Given the description of an element on the screen output the (x, y) to click on. 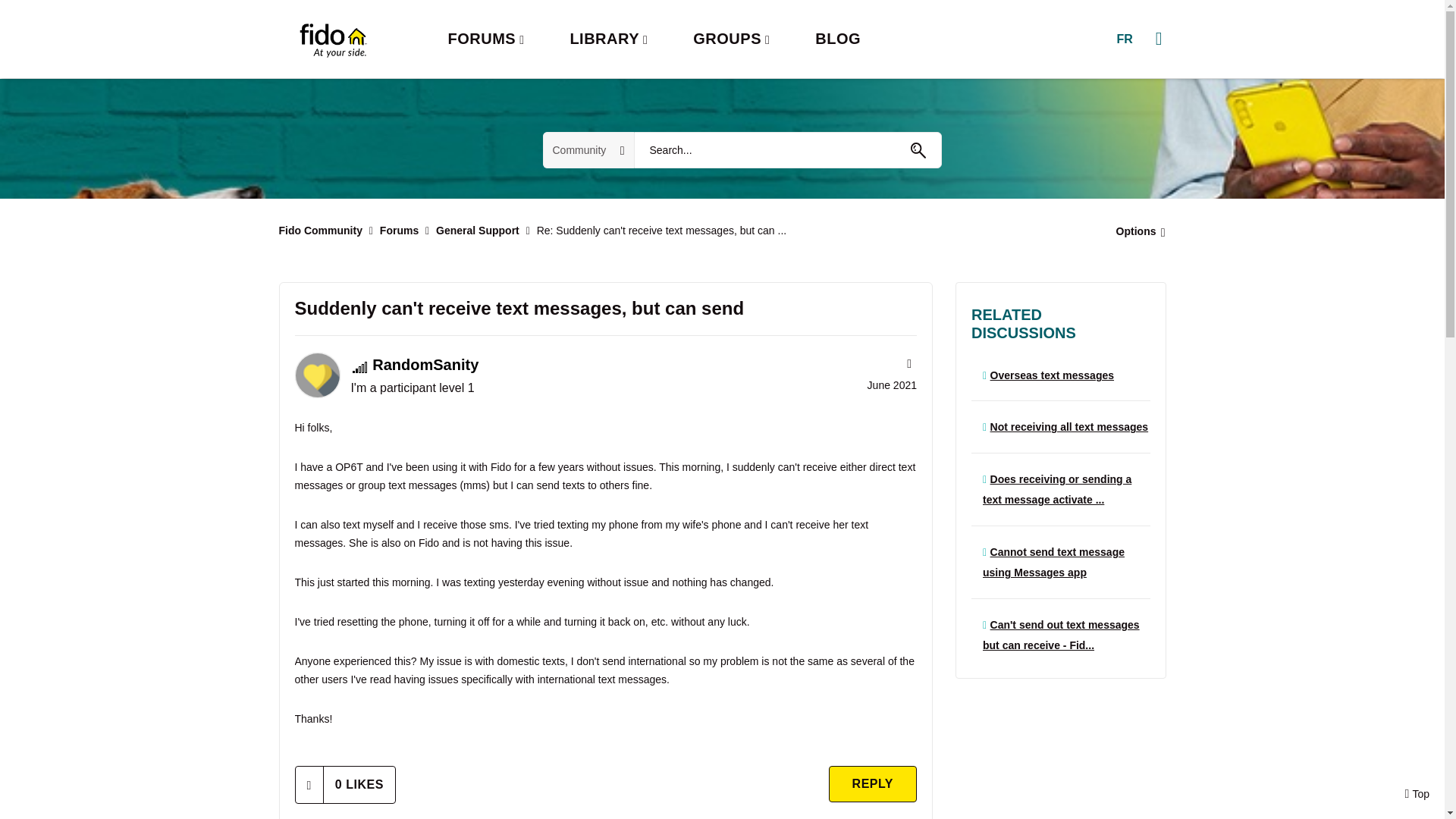
The total number of likes this post has received. (358, 784)
Fido Community (320, 230)
Go (917, 149)
RandomSanity (316, 375)
GROUPS (730, 39)
I'm a participant level 1 (359, 367)
Search Granularity (588, 149)
Go (917, 149)
FORUMS (485, 39)
Forums (399, 230)
